Given the description of an element on the screen output the (x, y) to click on. 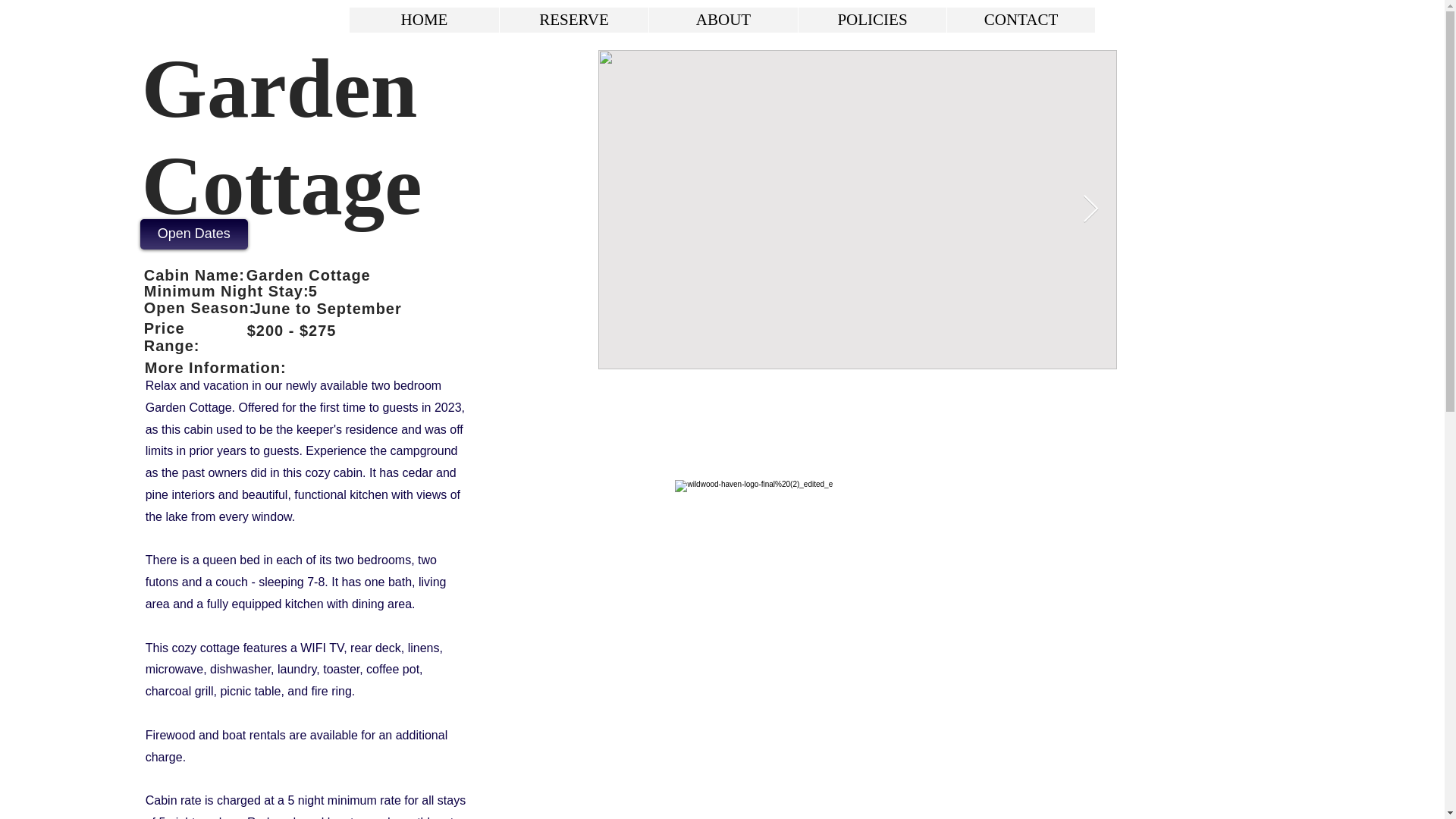
CONTACT (1020, 19)
POLICIES (871, 19)
ABOUT (722, 19)
RESERVE (573, 19)
Open Dates (193, 234)
HOME (424, 19)
